Given the description of an element on the screen output the (x, y) to click on. 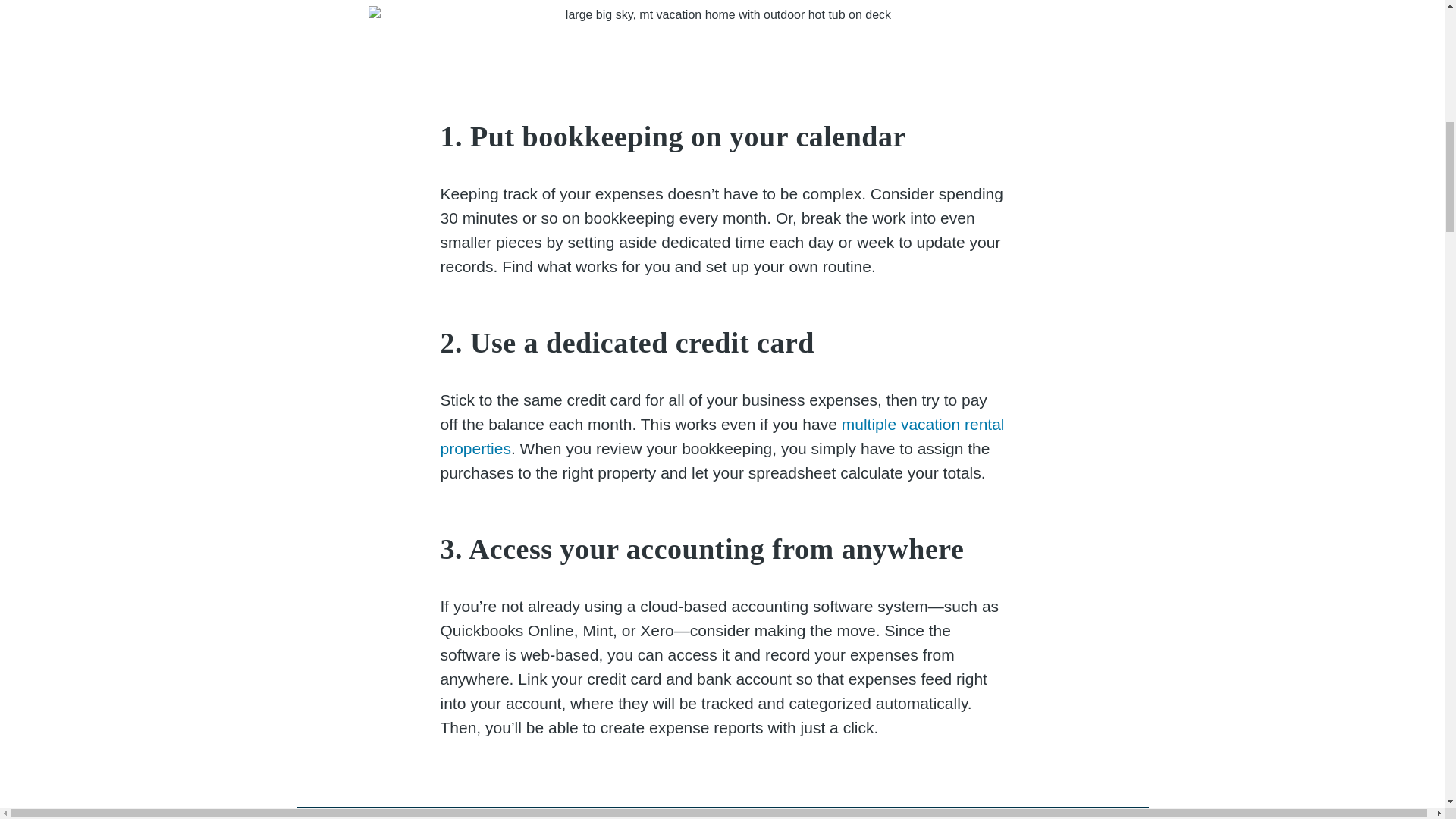
multiple vacation rental properties (721, 436)
